Given the description of an element on the screen output the (x, y) to click on. 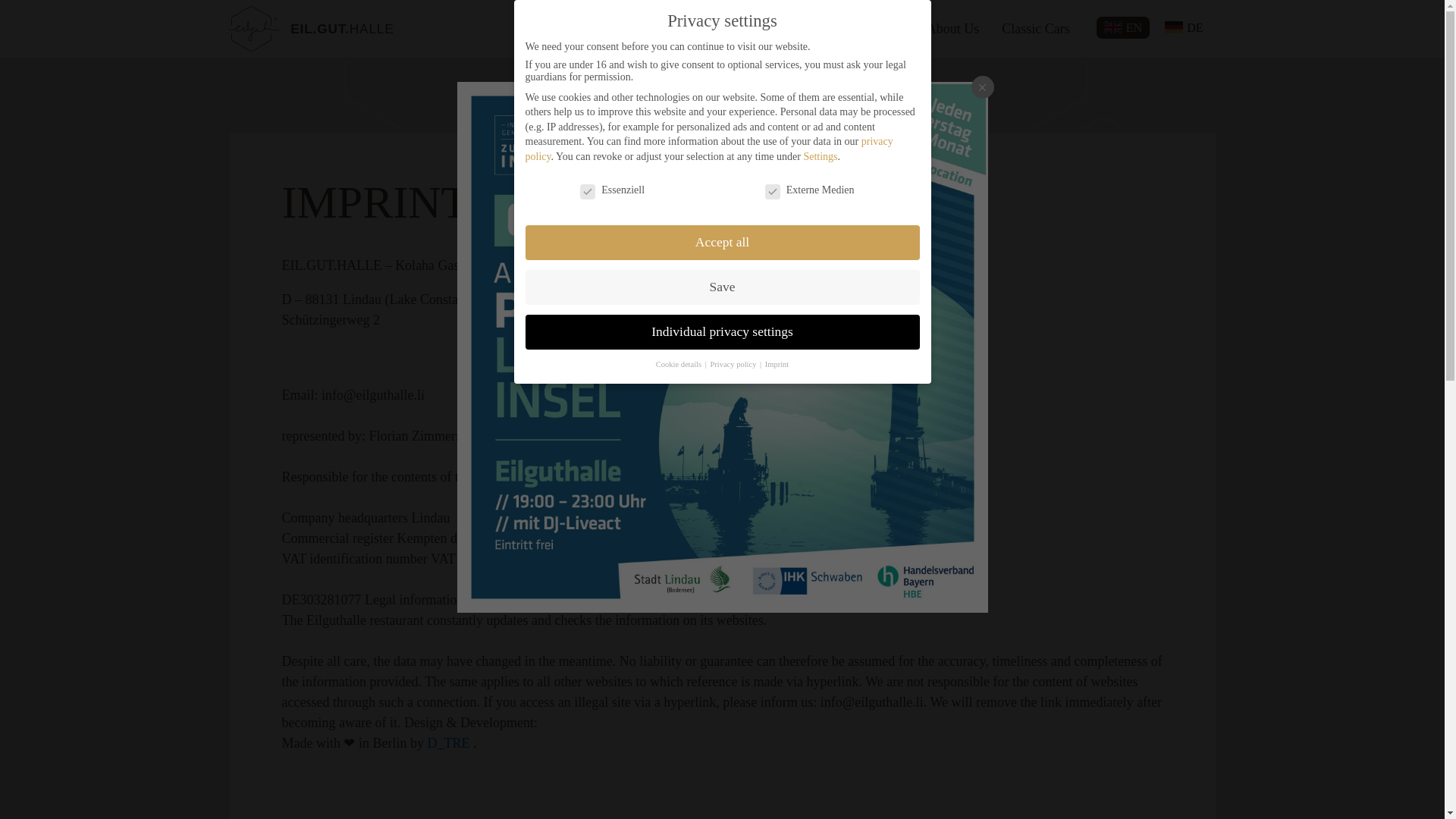
Contact (818, 28)
privacy policy (708, 138)
Imprint (777, 364)
Save (721, 281)
Classic Cars (1035, 28)
About Us (953, 28)
to the terms and conditions (361, 786)
Individual privacy settings (721, 329)
Settings (820, 147)
Privacy policy (734, 363)
Accept all (721, 236)
Events (755, 28)
Current (882, 28)
EN (1123, 27)
DE (1183, 27)
